Given the description of an element on the screen output the (x, y) to click on. 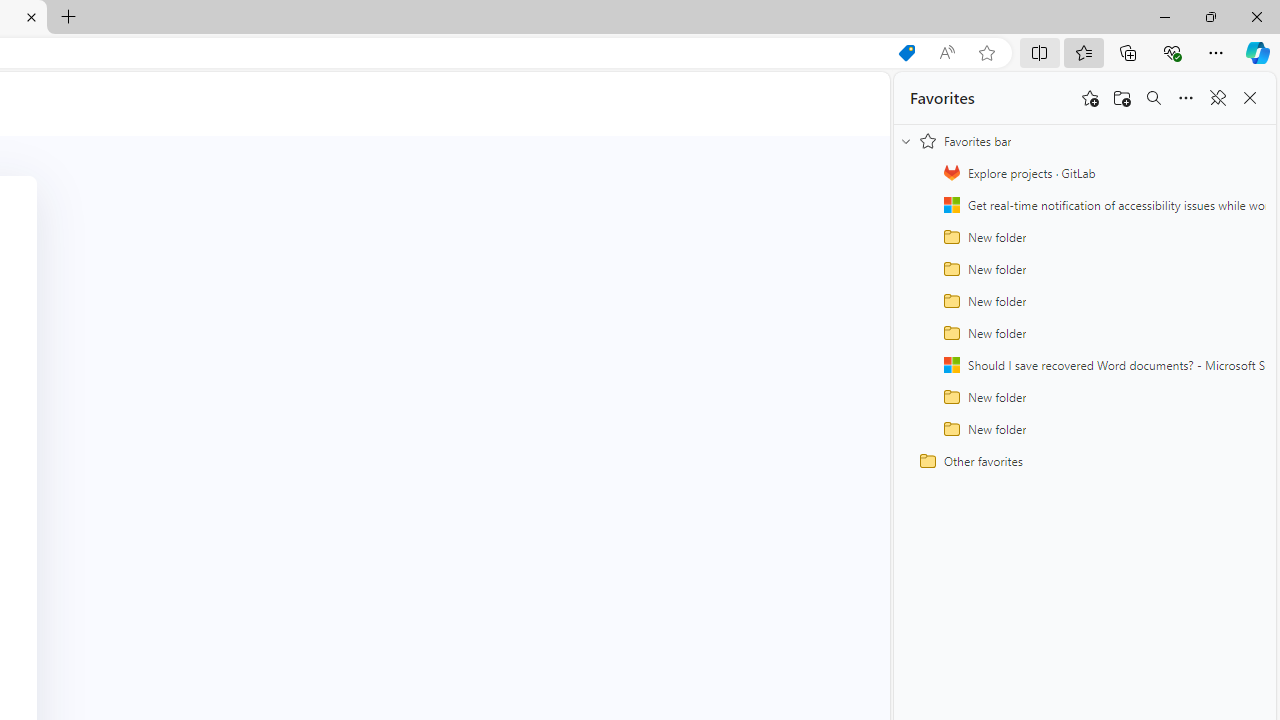
Add folder (1122, 98)
Add this page to favorites (1089, 98)
